Given the description of an element on the screen output the (x, y) to click on. 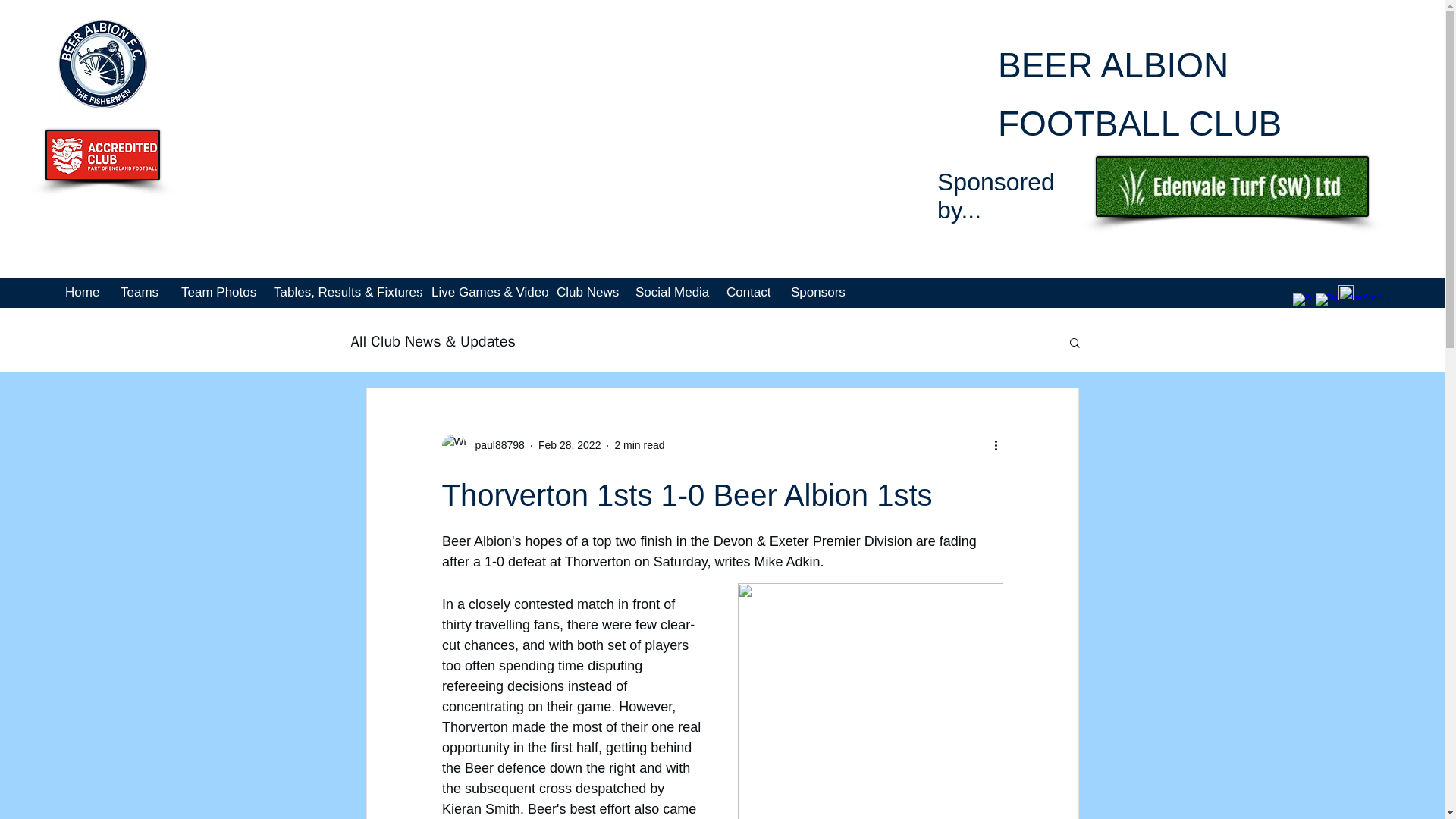
Contact (746, 292)
BEER ALBION FOOTBALL CLUB (1139, 94)
Home (80, 292)
paul88798 (494, 445)
Club News (583, 292)
Team Photos (215, 292)
Social Media (668, 292)
2 min read (638, 444)
Feb 28, 2022 (569, 444)
Teams (137, 292)
